Given the description of an element on the screen output the (x, y) to click on. 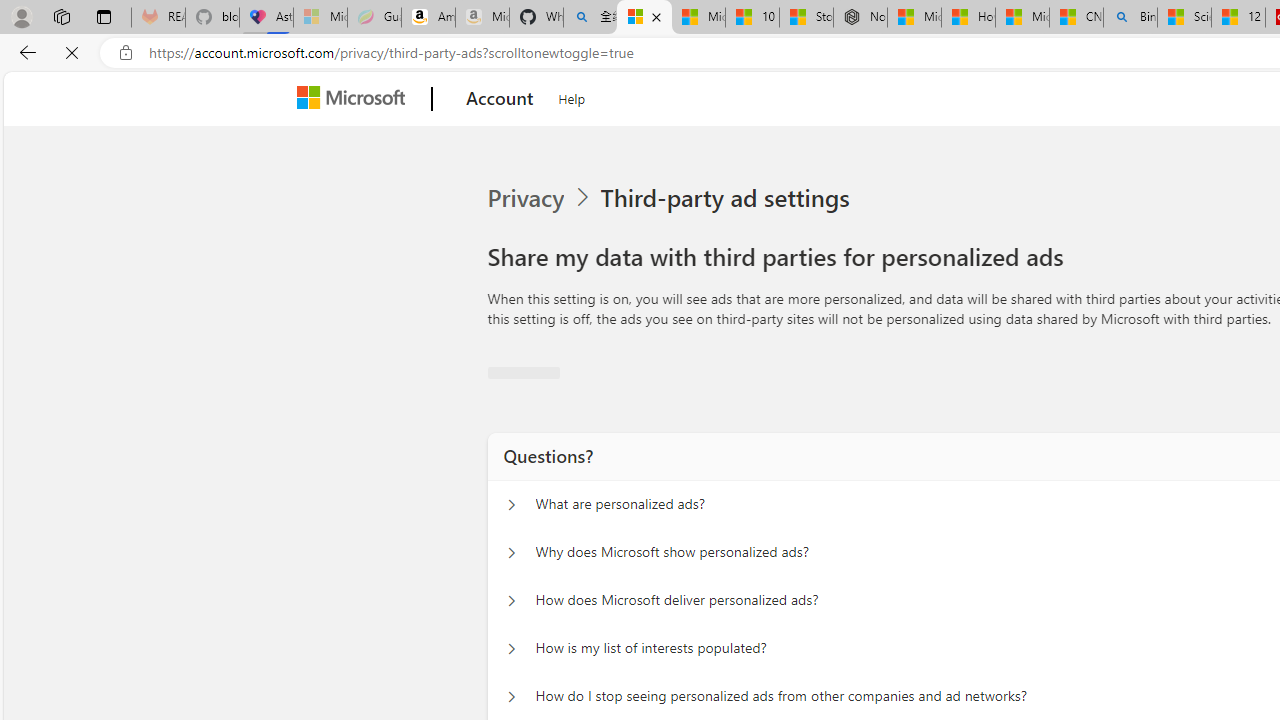
Account (499, 99)
Bing (1130, 17)
Asthma Inhalers: Names and Types (266, 17)
Questions? How is my list of interests populated? (511, 648)
How I Got Rid of Microsoft Edge's Unnecessary Features (968, 17)
